Given the description of an element on the screen output the (x, y) to click on. 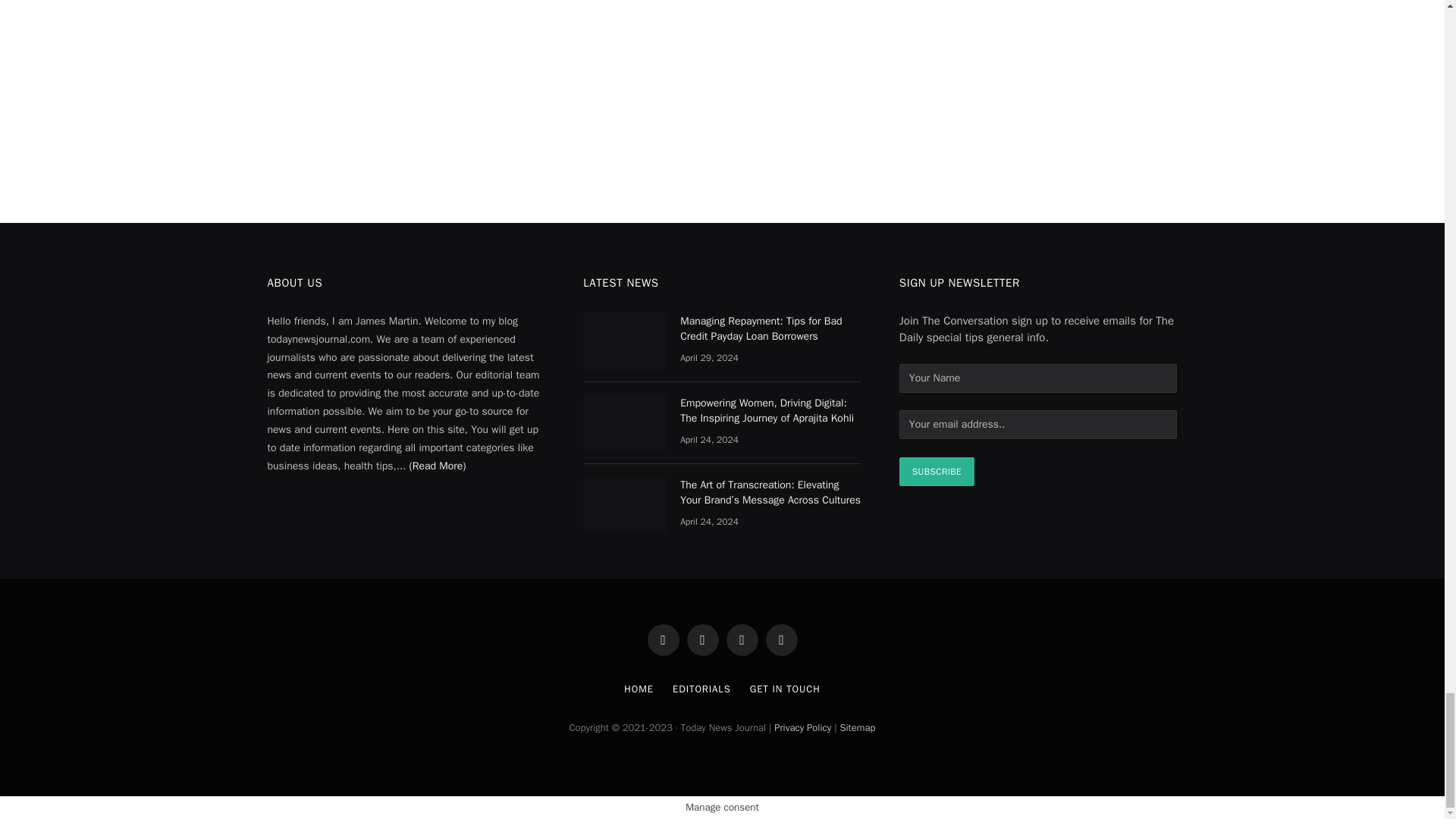
Subscribe (936, 471)
